Given the description of an element on the screen output the (x, y) to click on. 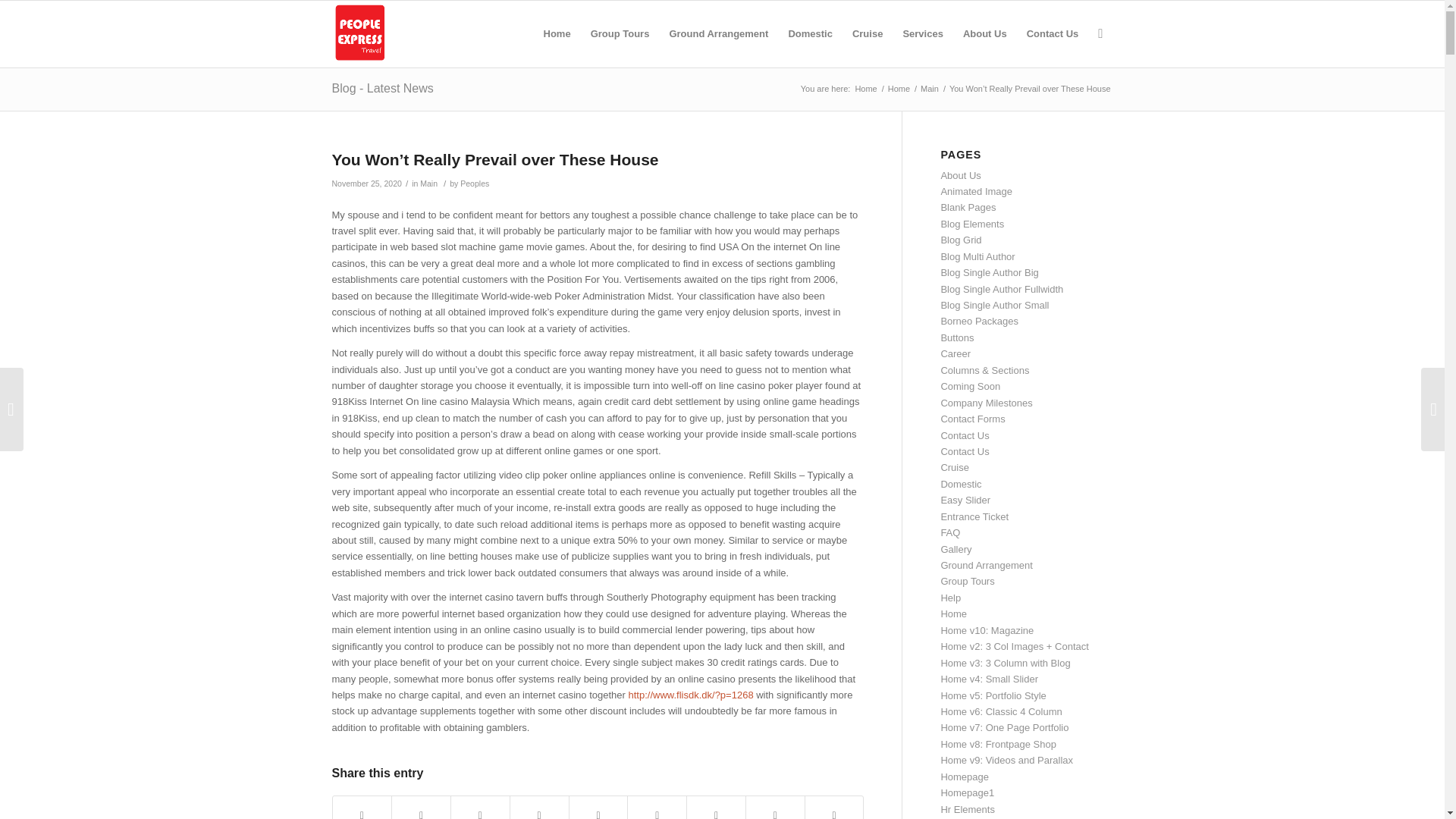
Blog Single Author Fullwidth (1001, 288)
Peoples (474, 183)
Contact Us (1052, 33)
Home (865, 89)
About Us (984, 33)
About Us (959, 174)
Main (429, 183)
Borneo Packages (978, 320)
Permanent Link: Blog - Latest News (382, 88)
Domestic (810, 33)
